Given the description of an element on the screen output the (x, y) to click on. 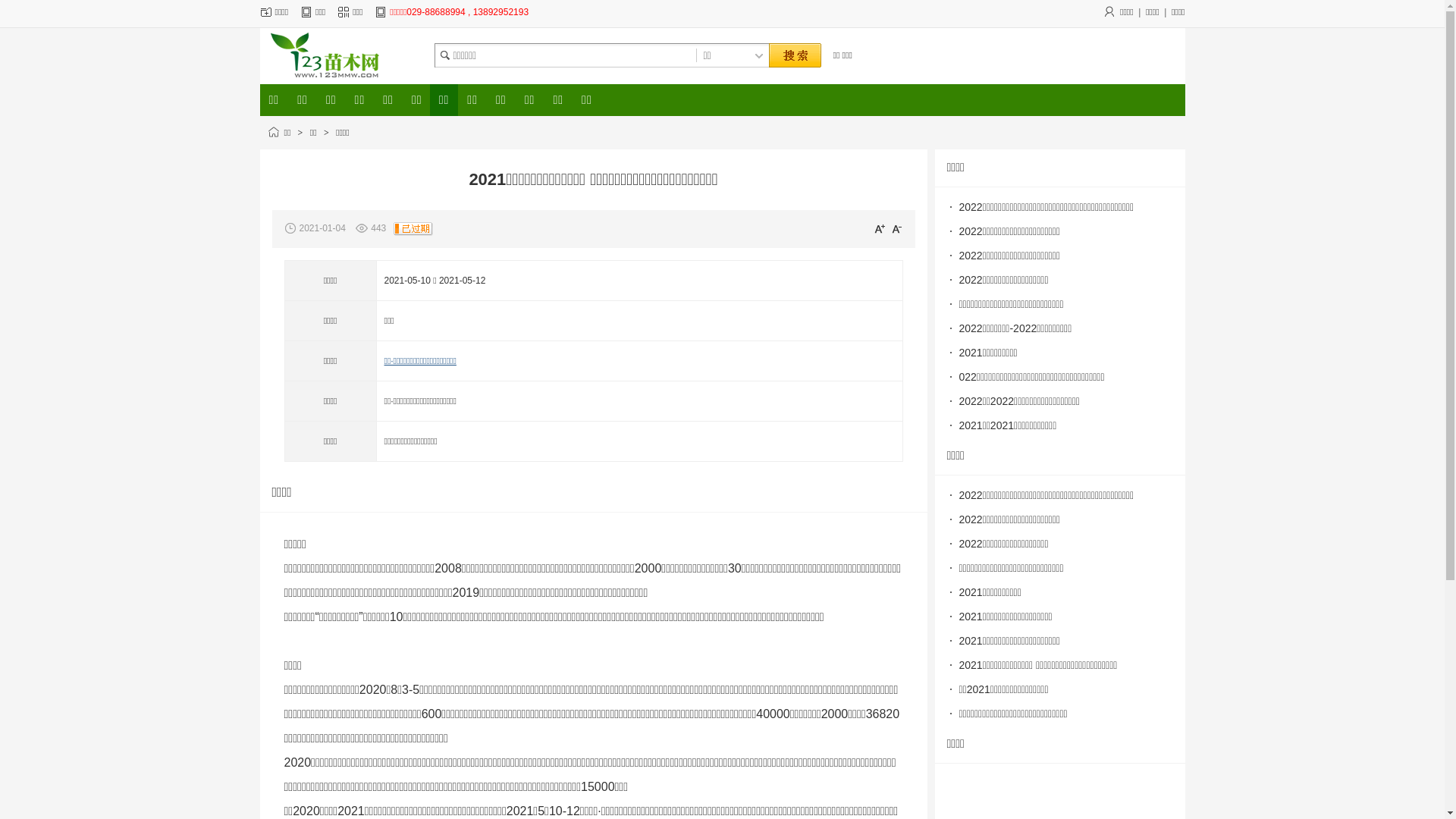
  Element type: text (793, 56)
